Given the description of an element on the screen output the (x, y) to click on. 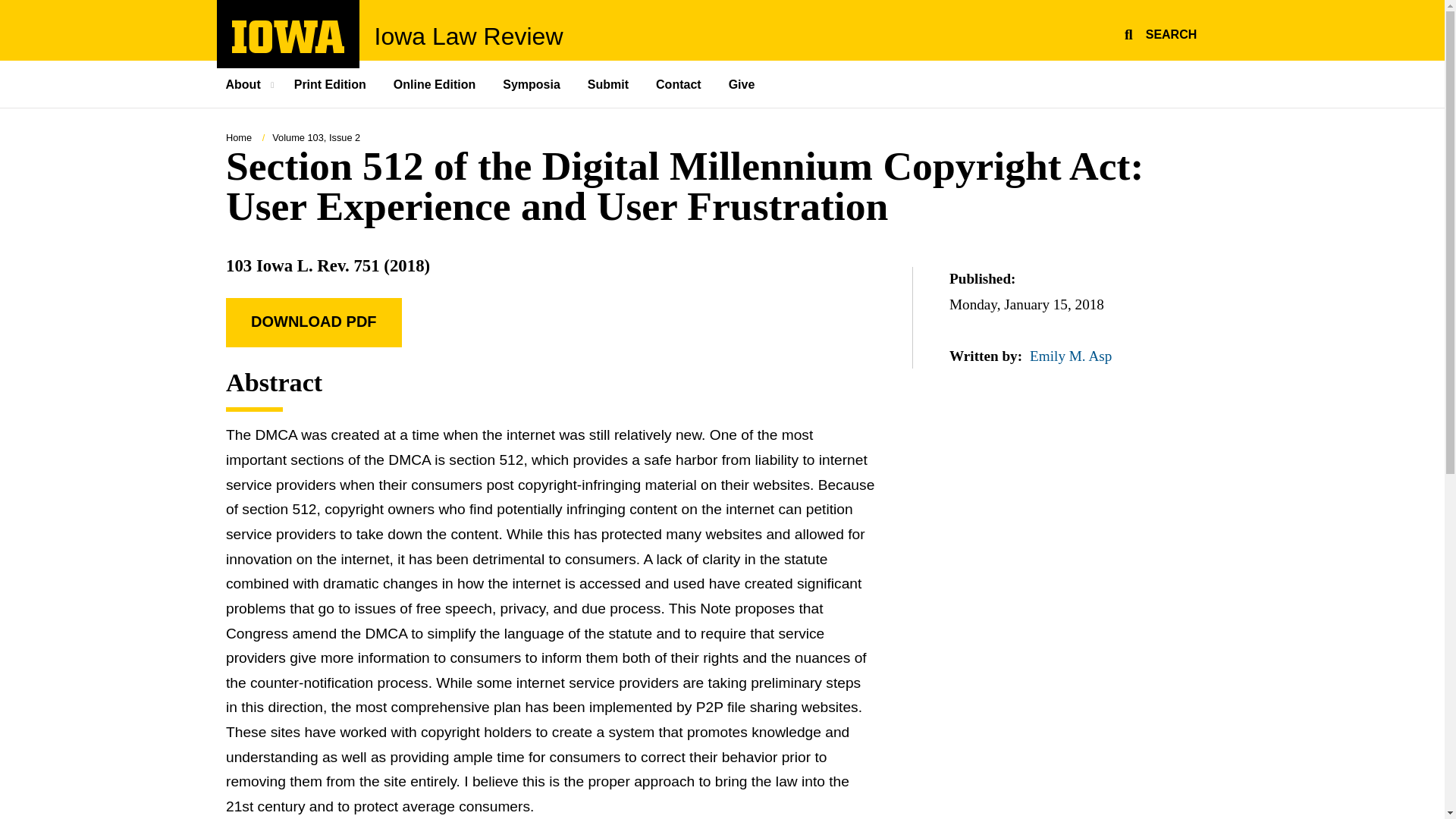
University of Iowa (288, 48)
Volume 103, Issue 2 (288, 36)
Submit (315, 137)
Skip to main content (609, 83)
Home (7, 7)
SEARCH (238, 137)
Print Edition (1157, 32)
Emily M. Asp (330, 83)
Online Edition (1070, 355)
About (435, 83)
DOWNLOAD PDF (252, 83)
Iowa Law Review (313, 322)
Contact (468, 36)
Give (679, 83)
